Given the description of an element on the screen output the (x, y) to click on. 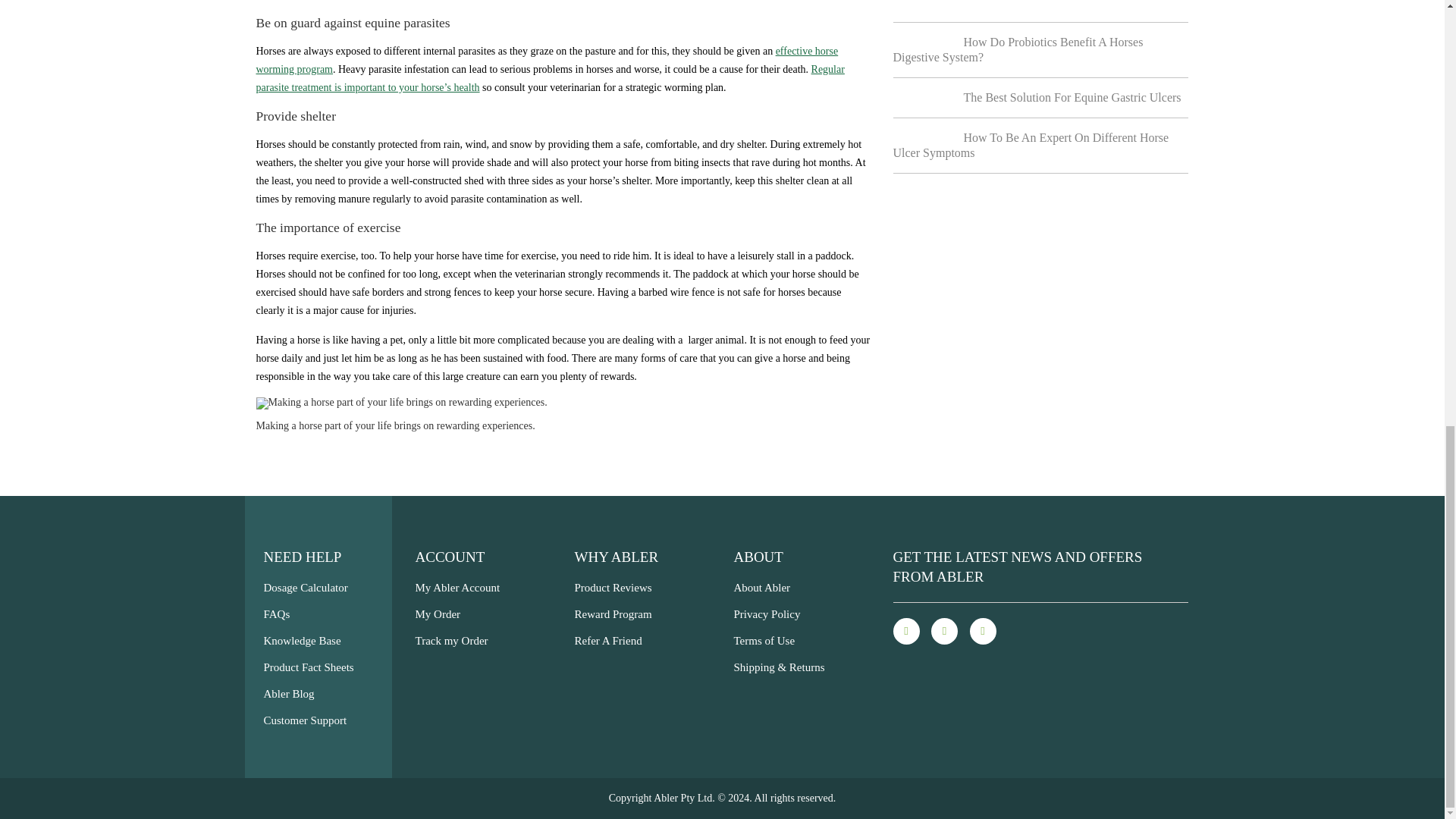
Abler Equine Dewormers (550, 78)
